Given the description of an element on the screen output the (x, y) to click on. 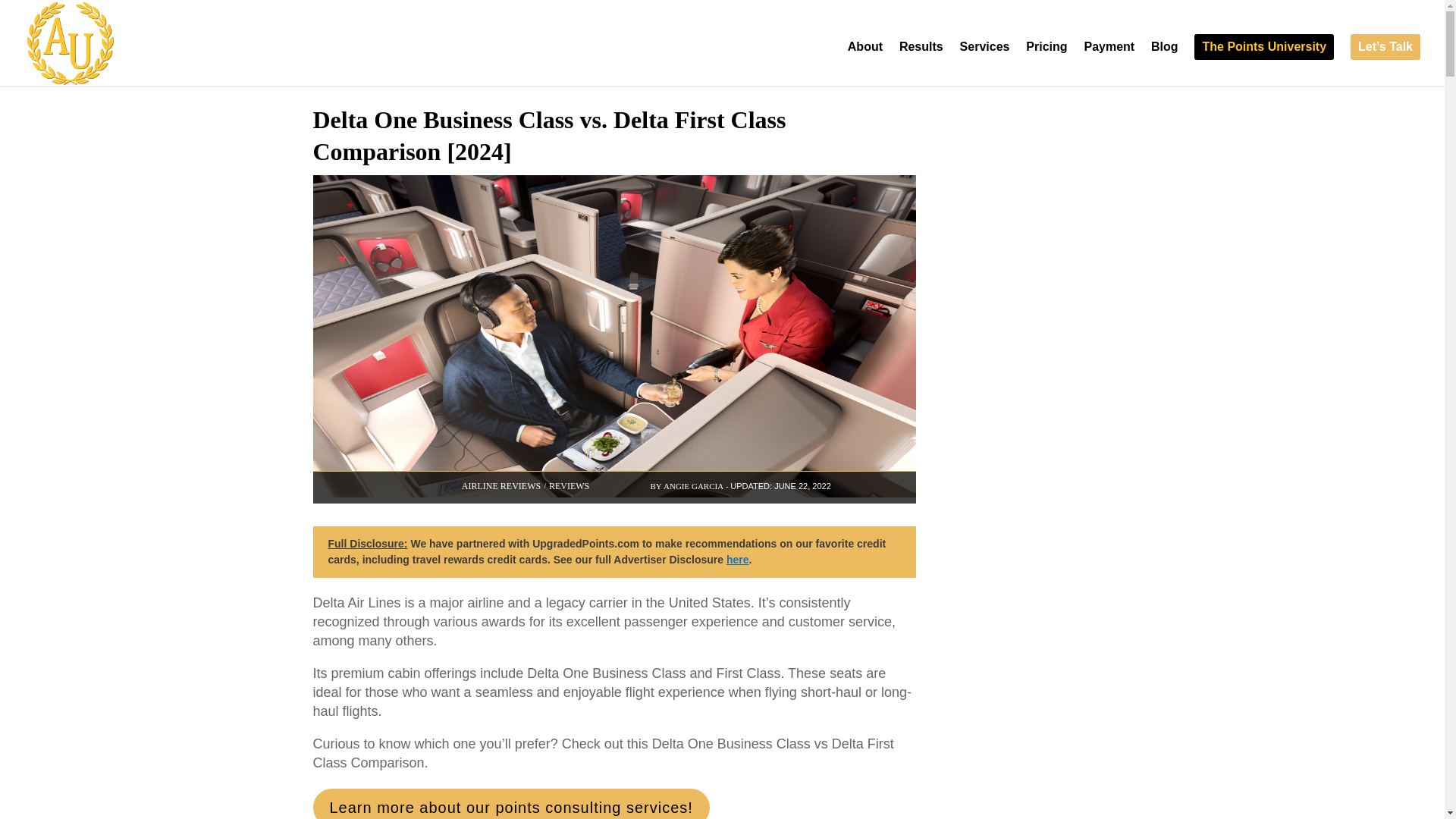
AIRLINE REVIEWS (500, 485)
Services (984, 63)
Learn more about our points consulting services! (511, 803)
The Points University (1263, 46)
here (737, 559)
Results (921, 63)
Payment (1108, 63)
REVIEWS (568, 485)
Pricing (1046, 63)
